Given the description of an element on the screen output the (x, y) to click on. 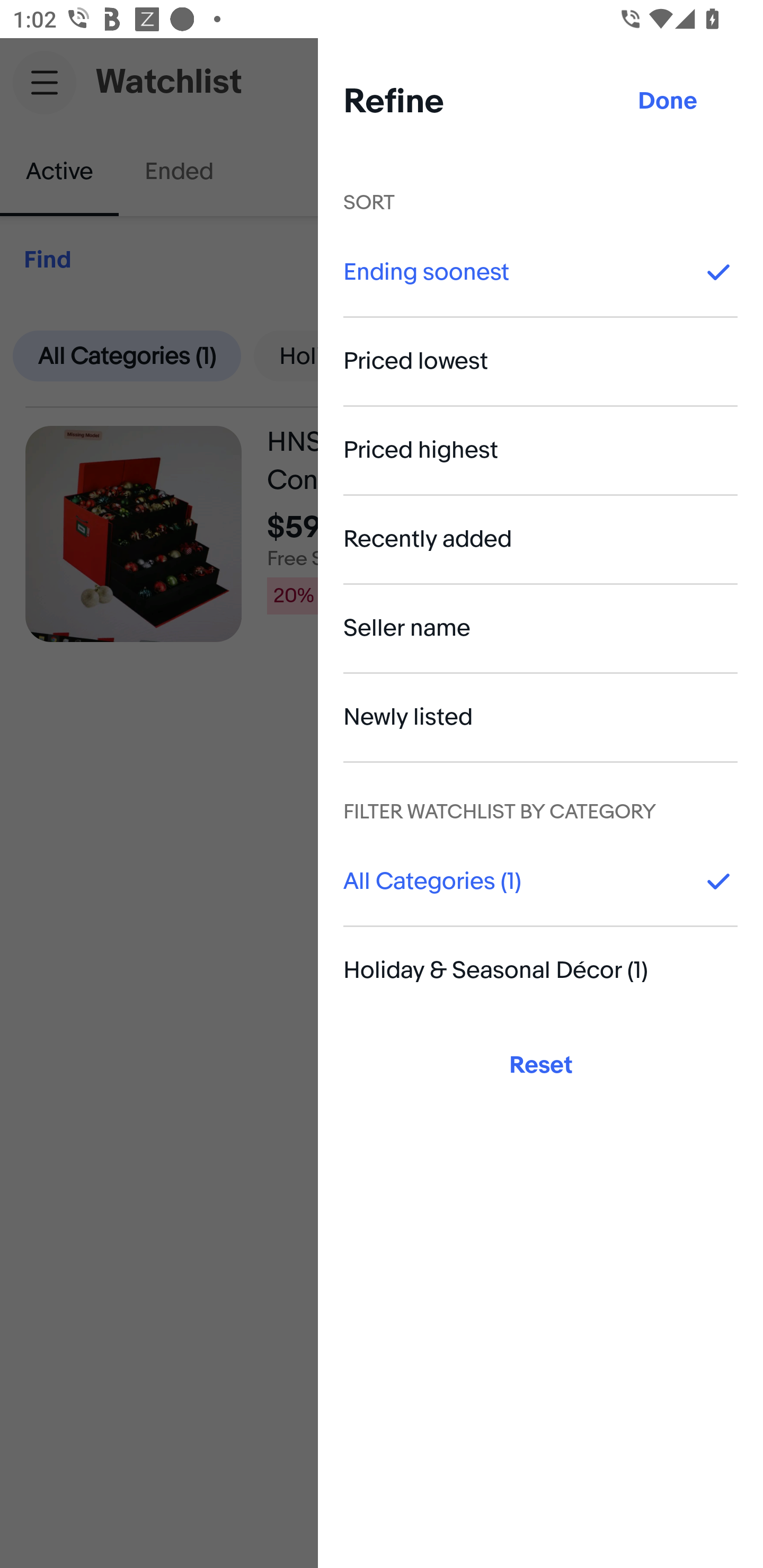
Done (667, 101)
Refine Refine list (704, 260)
Ending soonest Sort by, 1 of 8 (540, 271)
Priced lowest Priced lowest, 2 of 8 (540, 361)
Priced highest Priced highest, 3 of 8 (540, 450)
Recently added Recently added, 4 of 8 (540, 539)
Seller name Seller name, 5 of 8 (540, 627)
Newly listed Newly listed, 6 of 8 (540, 717)
All Categories (1) All Categories, 1 item, 7 of 8 (540, 881)
Reset (540, 1065)
